Given the description of an element on the screen output the (x, y) to click on. 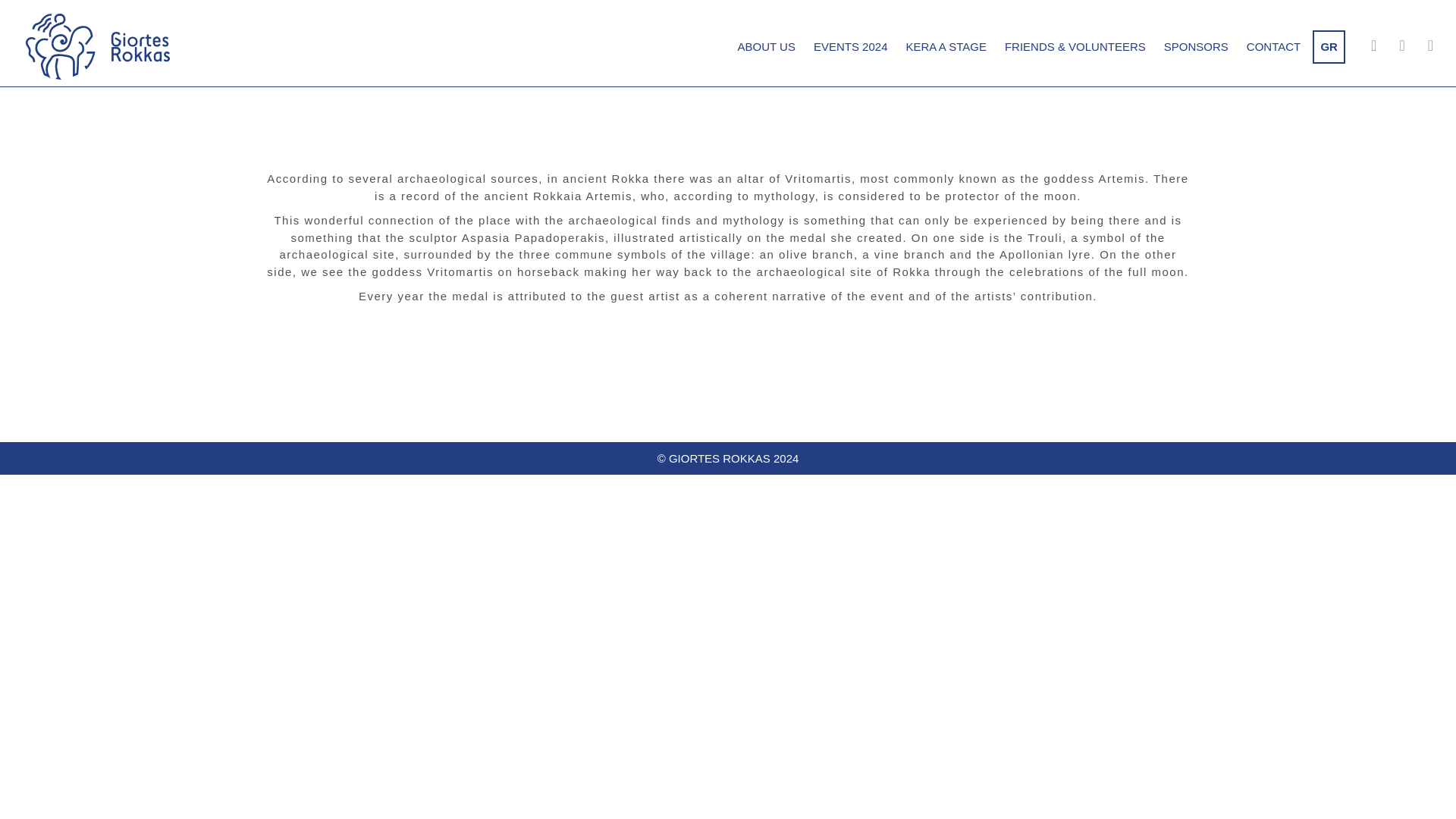
CONTACT (1273, 46)
ABOUT US (766, 46)
SPONSORS (1195, 46)
KERA A STAGE (945, 46)
GR (1329, 46)
EVENTS 2024 (850, 46)
